Given the description of an element on the screen output the (x, y) to click on. 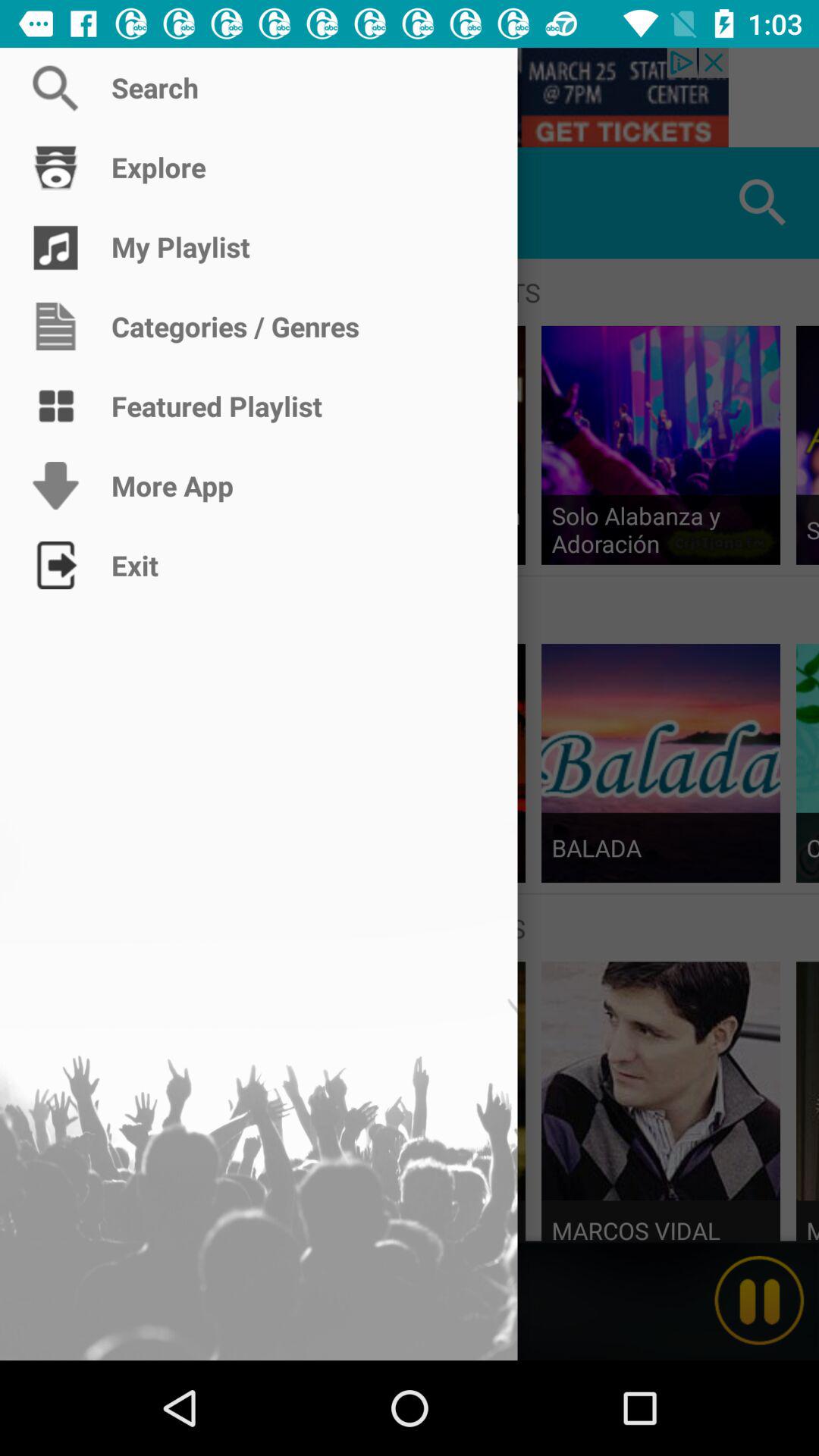
pause audio (759, 1300)
